Given the description of an element on the screen output the (x, y) to click on. 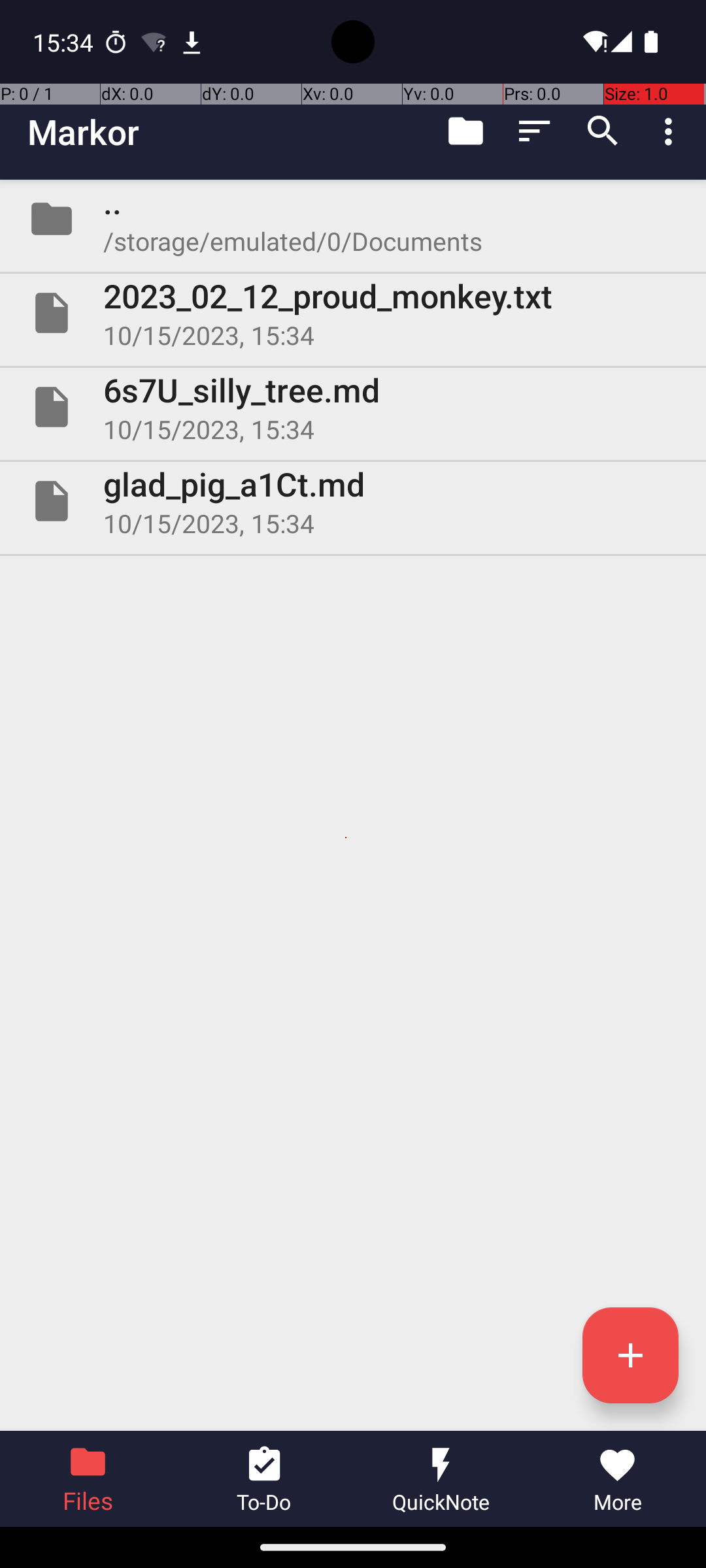
File 2023_02_12_proud_monkey.txt  Element type: android.widget.LinearLayout (353, 312)
File 6s7U_silly_tree.md  Element type: android.widget.LinearLayout (353, 406)
File glad_pig_a1Ct.md  Element type: android.widget.LinearLayout (353, 500)
